Given the description of an element on the screen output the (x, y) to click on. 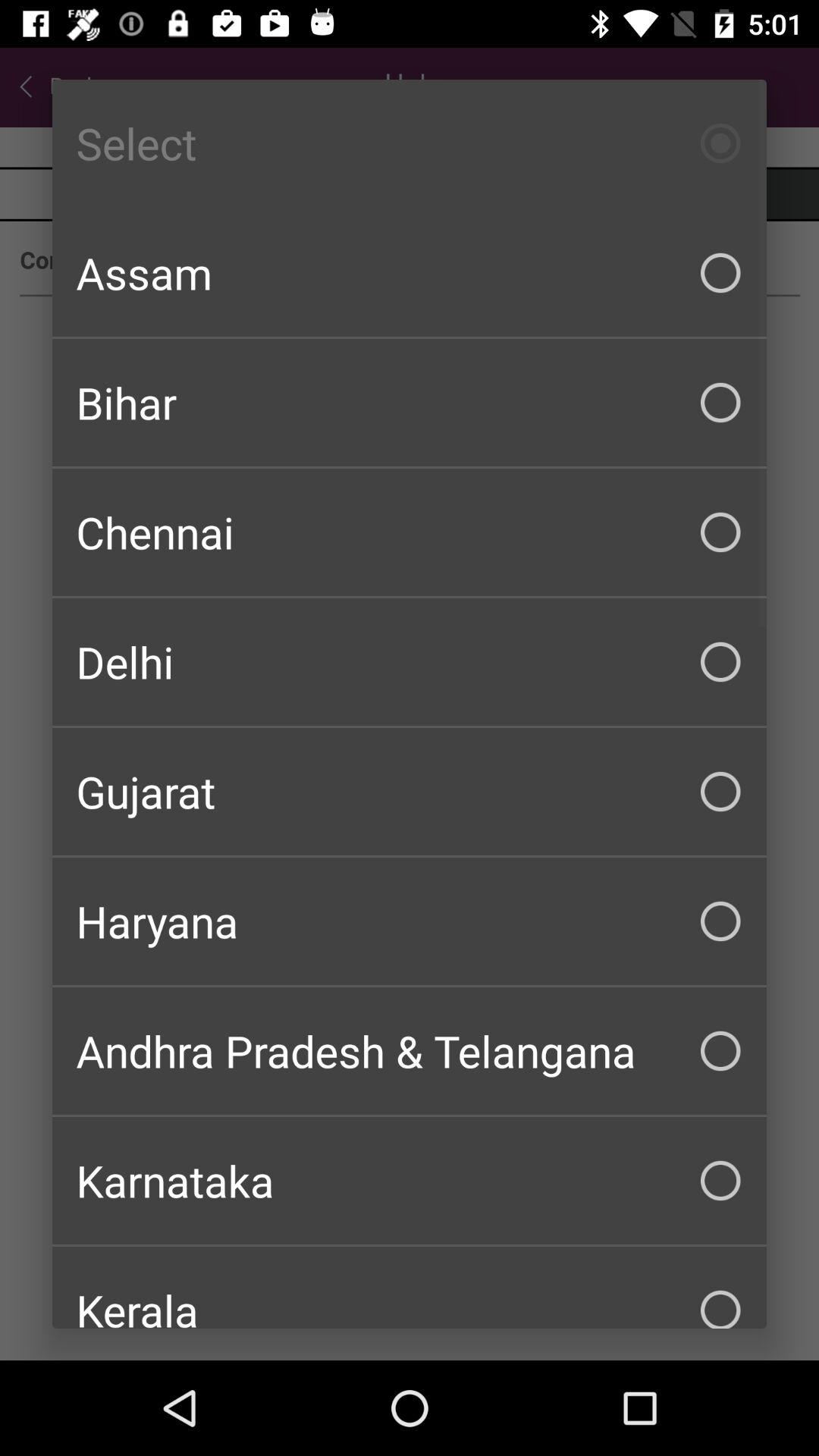
open icon above bihar checkbox (409, 272)
